Given the description of an element on the screen output the (x, y) to click on. 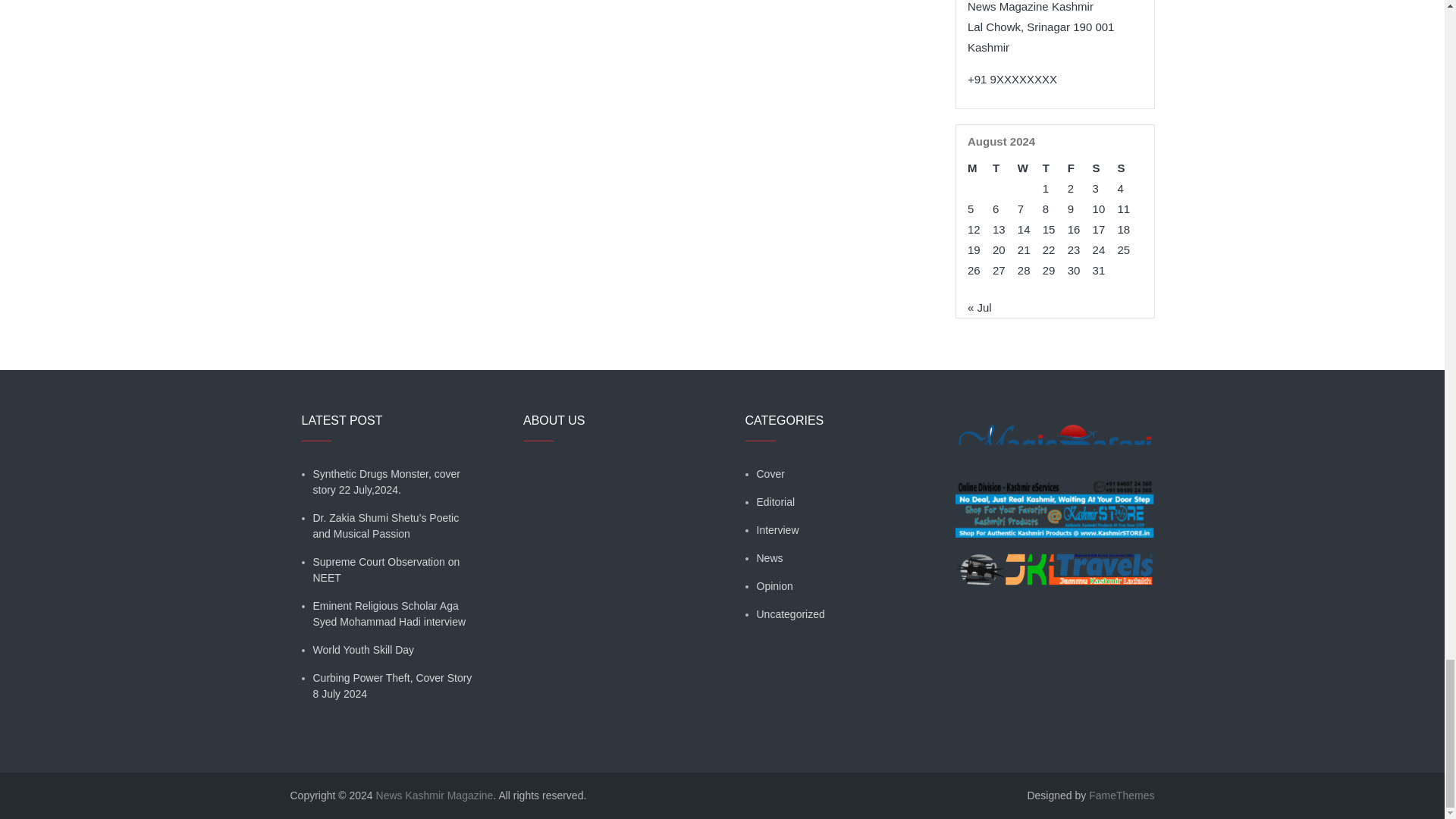
Tuesday (1004, 168)
News Kashmir Magazine (434, 795)
Friday (1080, 168)
Wednesday (1029, 168)
262x220 Ads (1054, 435)
262x220 Ads (1054, 500)
Monday (980, 168)
Thursday (1054, 168)
Sunday (1130, 168)
Saturday (1105, 168)
